Given the description of an element on the screen output the (x, y) to click on. 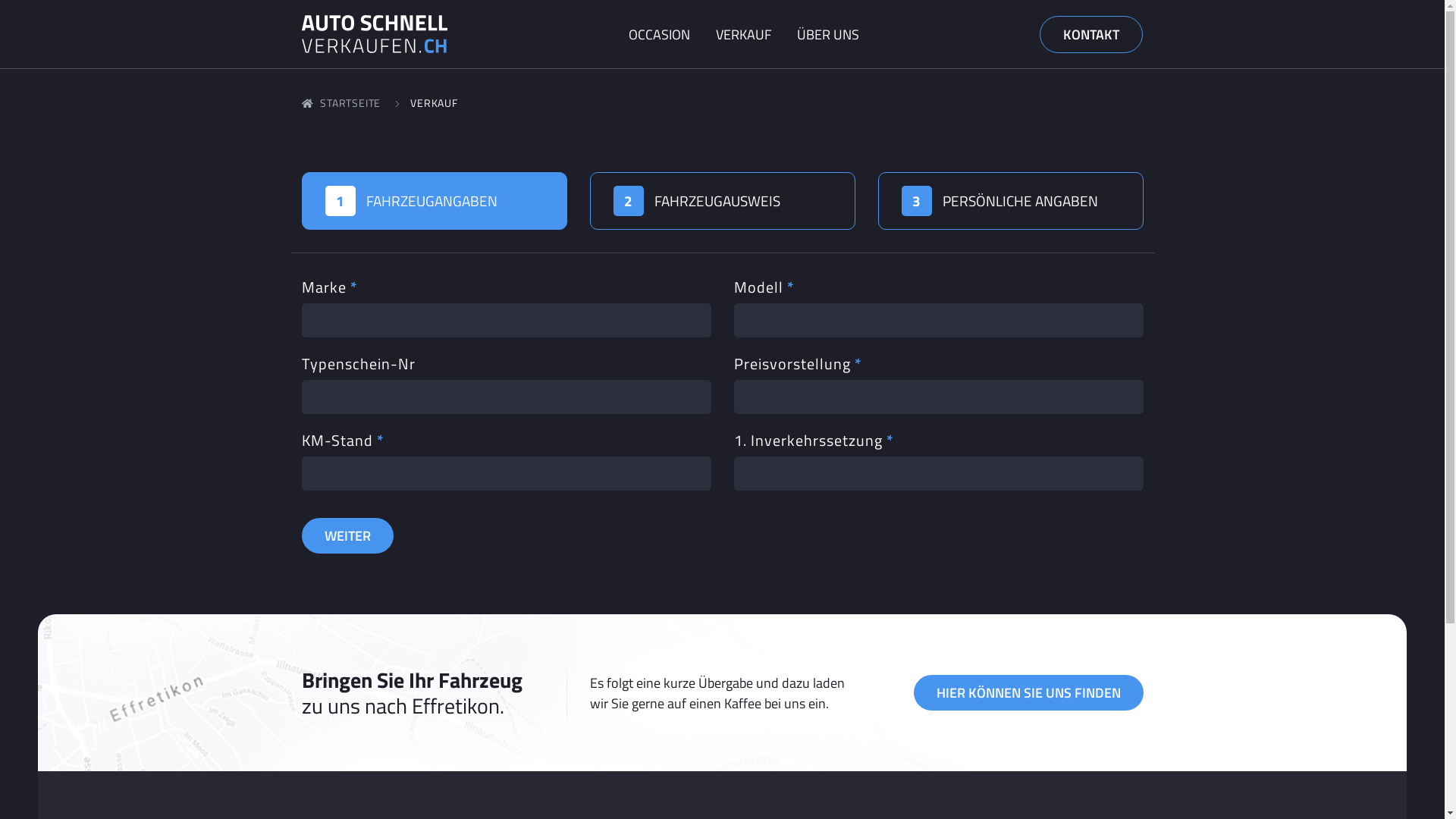
STARTSEITE Element type: text (341, 102)
WEITER Element type: text (347, 535)
KONTAKT Element type: text (1090, 33)
VERKAUF Element type: text (743, 33)
OCCASION Element type: text (658, 33)
